Given the description of an element on the screen output the (x, y) to click on. 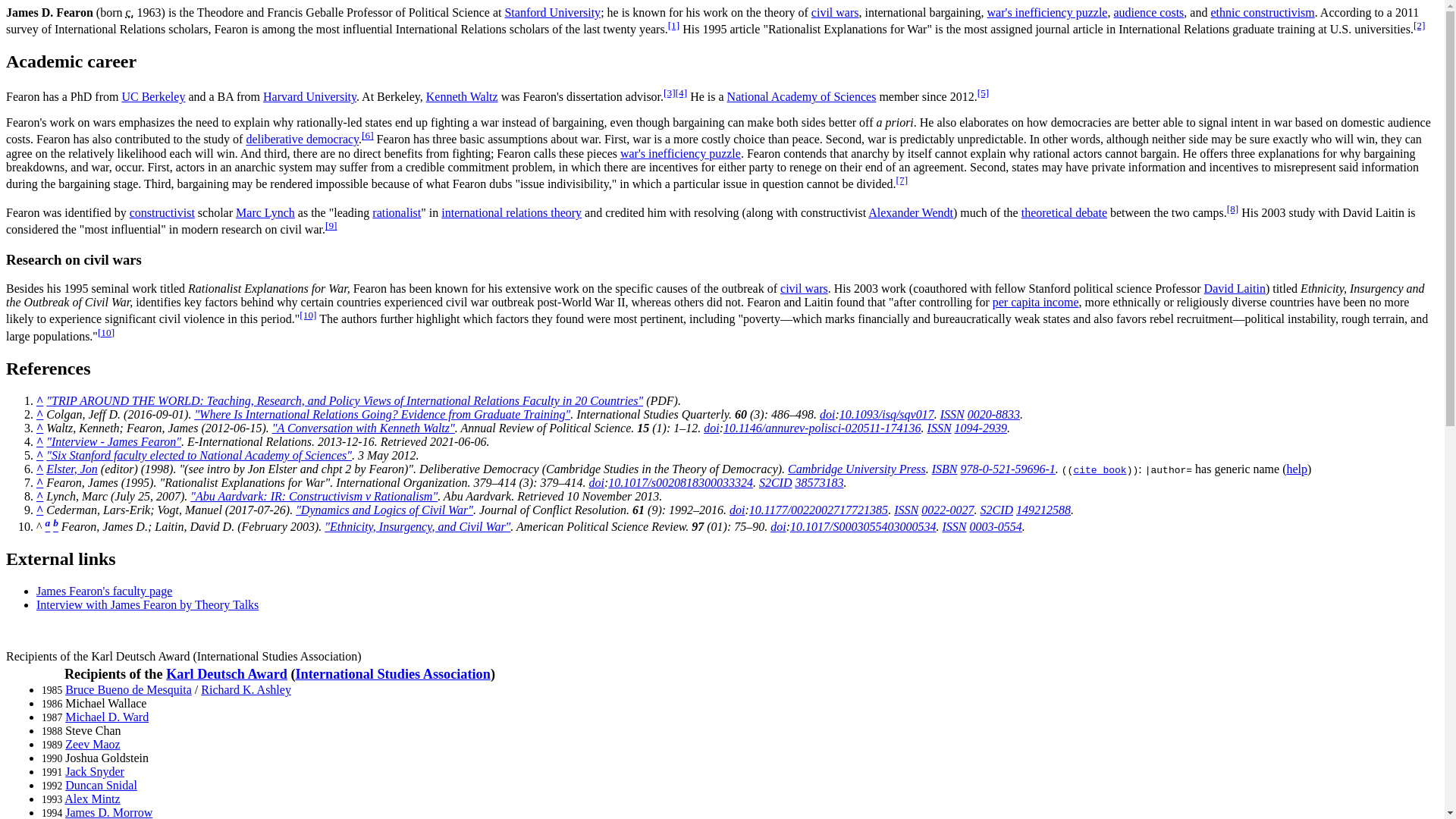
ethnic constructivism (1261, 11)
deliberative democracy (302, 139)
War's inefficiency puzzle (1047, 11)
rationalist (396, 212)
international relations theory (510, 212)
civil wars (834, 11)
Deliberative democracy (302, 139)
National Academy of Sciences (801, 96)
Harvard University (309, 96)
